Given the description of an element on the screen output the (x, y) to click on. 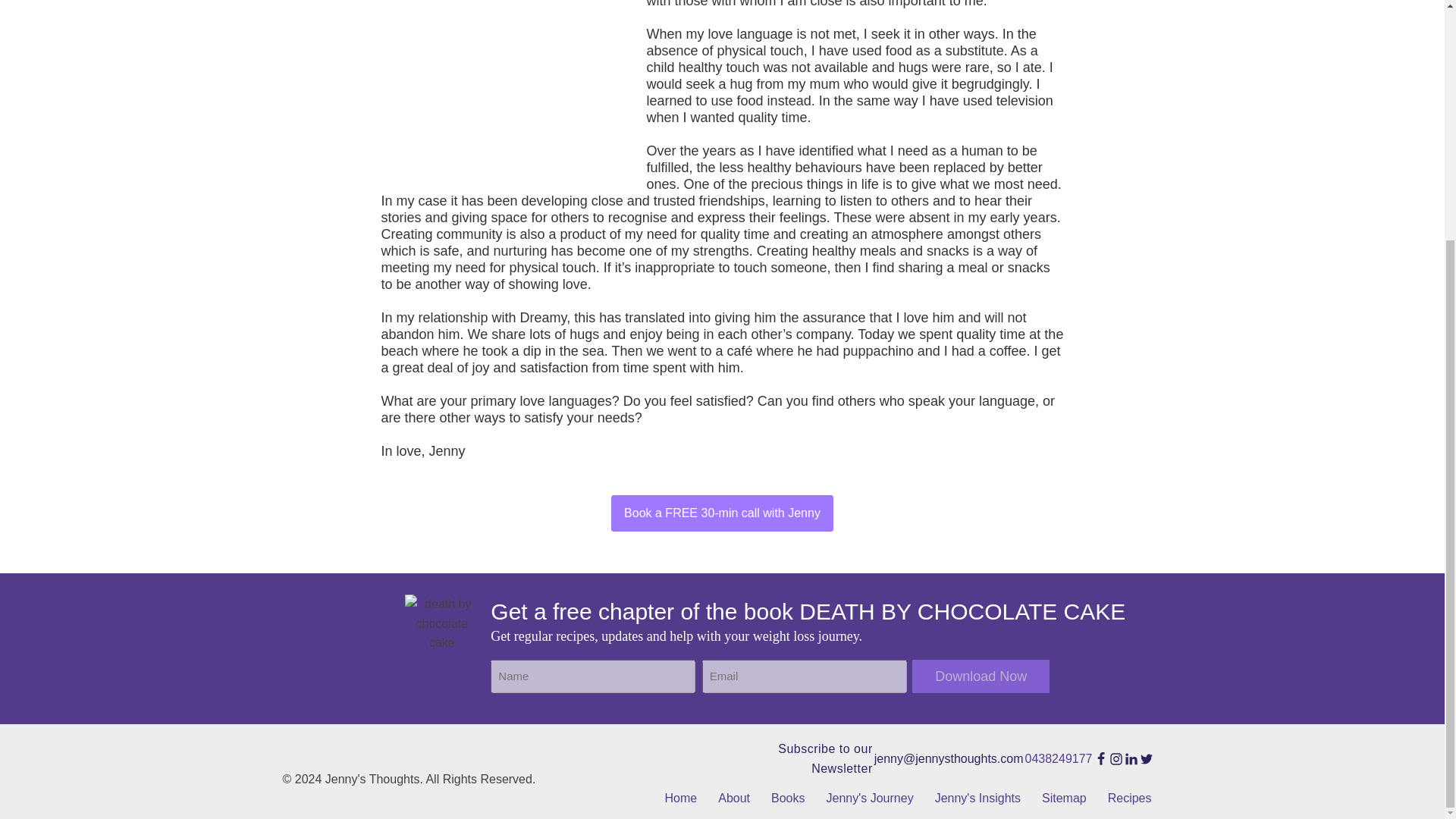
Download Now (980, 676)
Subscribe to our Newsletter (801, 758)
0438249177 (1059, 759)
Book a FREE 30-min call with Jenny (721, 513)
Download Now (980, 676)
